Given the description of an element on the screen output the (x, y) to click on. 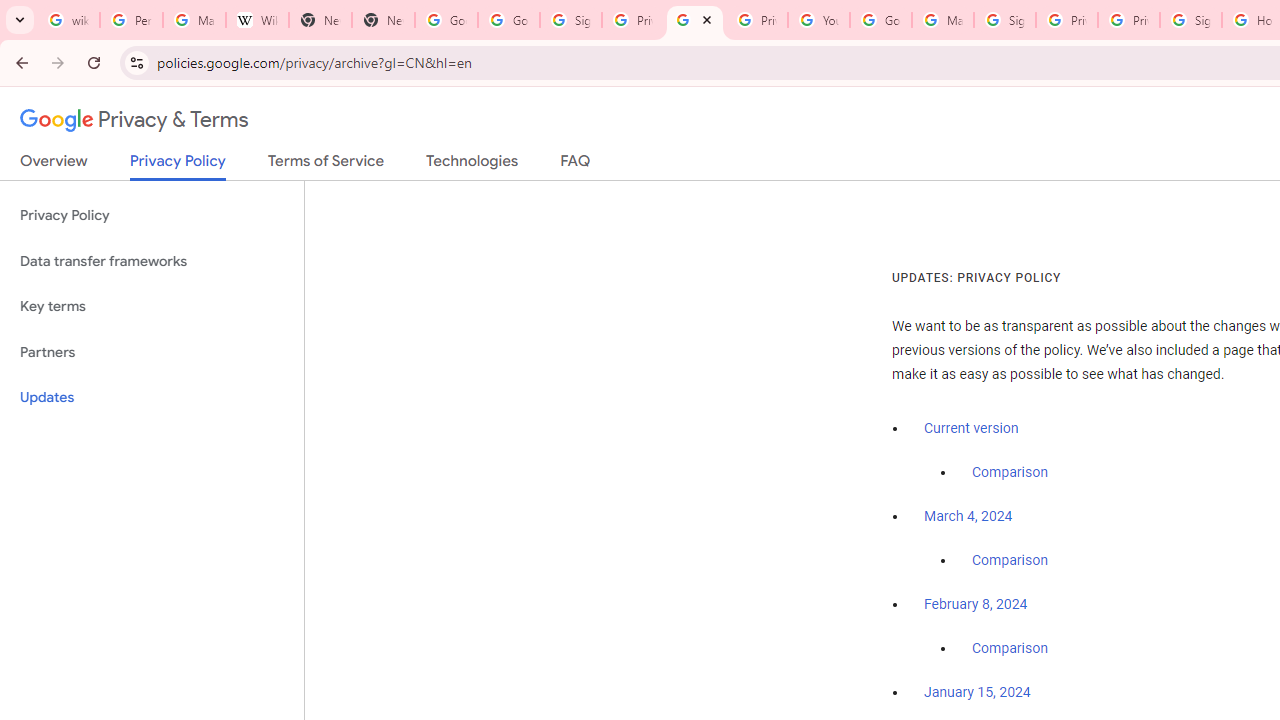
Sign in - Google Accounts (1004, 20)
Partners (152, 352)
Key terms (152, 306)
Google Account Help (880, 20)
YouTube (818, 20)
Overview (54, 165)
Current version (971, 428)
Sign in - Google Accounts (1190, 20)
New Tab (320, 20)
Privacy & Terms (134, 120)
Data transfer frameworks (152, 261)
